Given the description of an element on the screen output the (x, y) to click on. 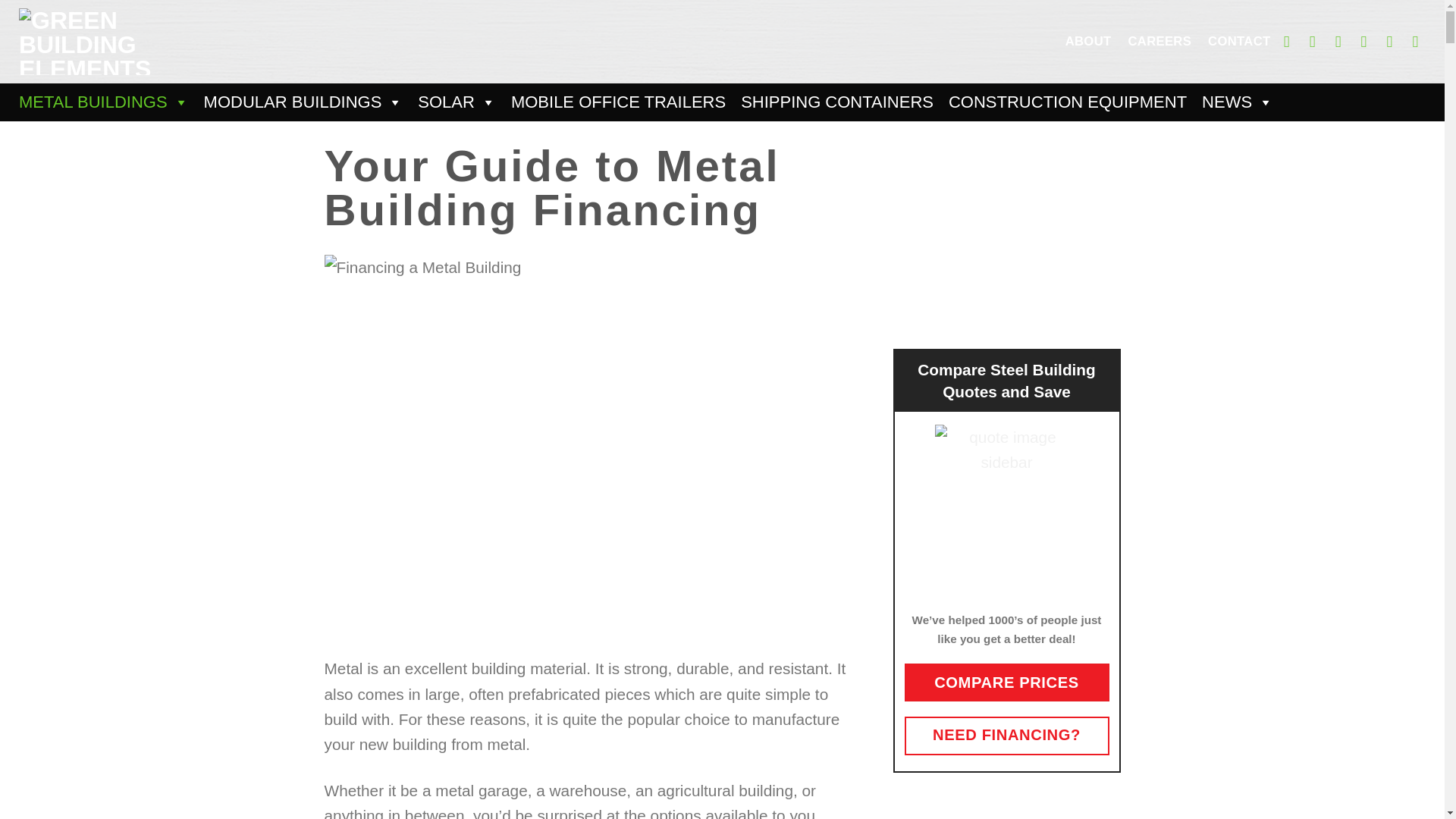
Follow on Twitter (1343, 40)
Follow on Facebook (1292, 40)
Follow on LinkedIn (1395, 40)
CAREERS (1158, 41)
METAL BUILDINGS (103, 102)
Follow on Instagram (1316, 40)
Follow on YouTube (1420, 40)
CONTACT (1238, 41)
Follow on Pinterest (1369, 40)
